Given the description of an element on the screen output the (x, y) to click on. 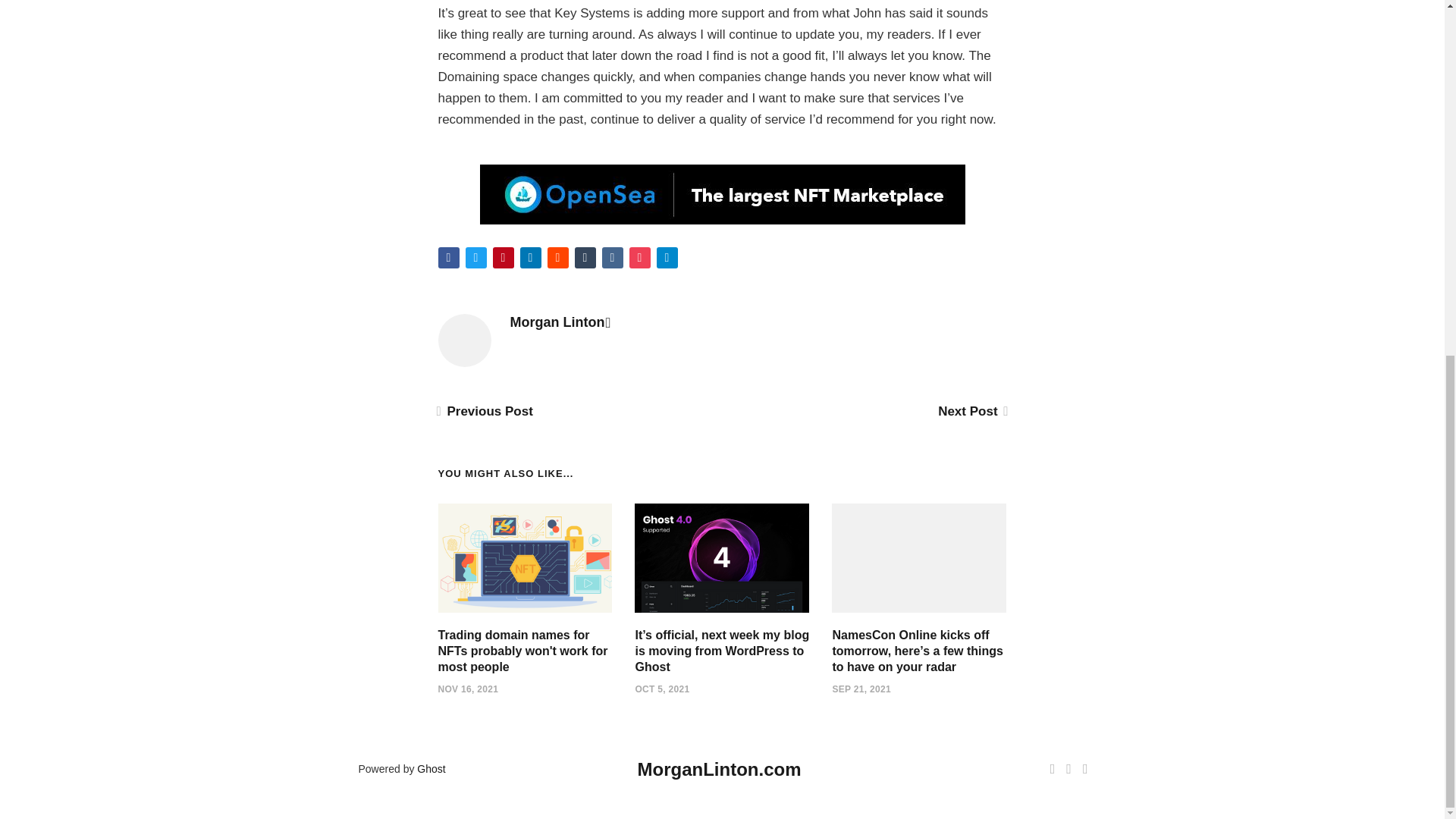
Previous Post (485, 411)
Next Post (971, 411)
